Given the description of an element on the screen output the (x, y) to click on. 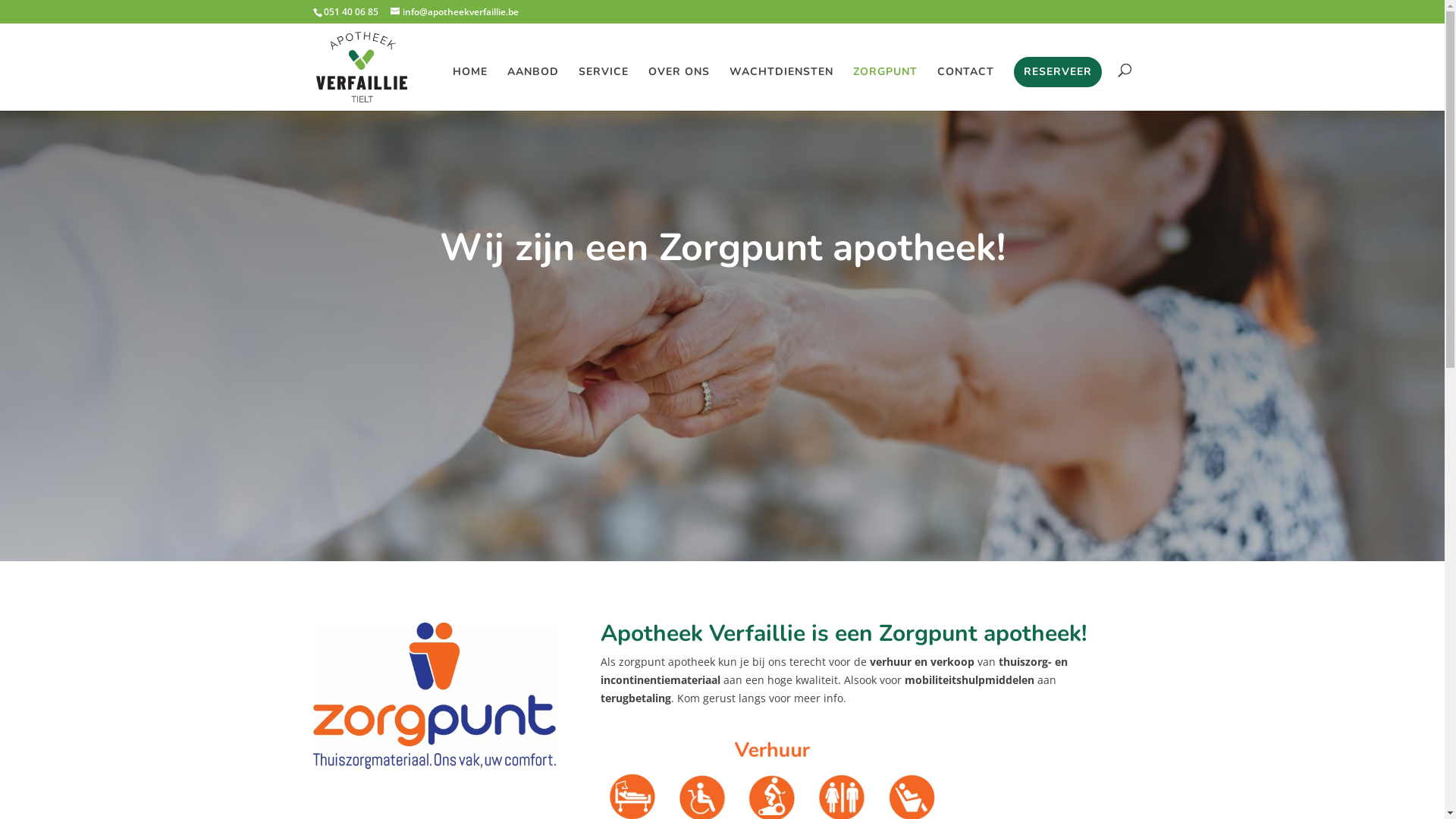
OVER ONS Element type: text (678, 88)
AANBOD Element type: text (532, 88)
info@apotheekverfaillie.be Element type: text (453, 11)
CONTACT Element type: text (965, 88)
WACHTDIENSTEN Element type: text (781, 88)
RESERVEER Element type: text (1057, 71)
HOME Element type: text (468, 88)
051 40 06 85 Element type: text (350, 11)
SERVICE Element type: text (602, 88)
ZORGPUNT Element type: text (884, 88)
